Given the description of an element on the screen output the (x, y) to click on. 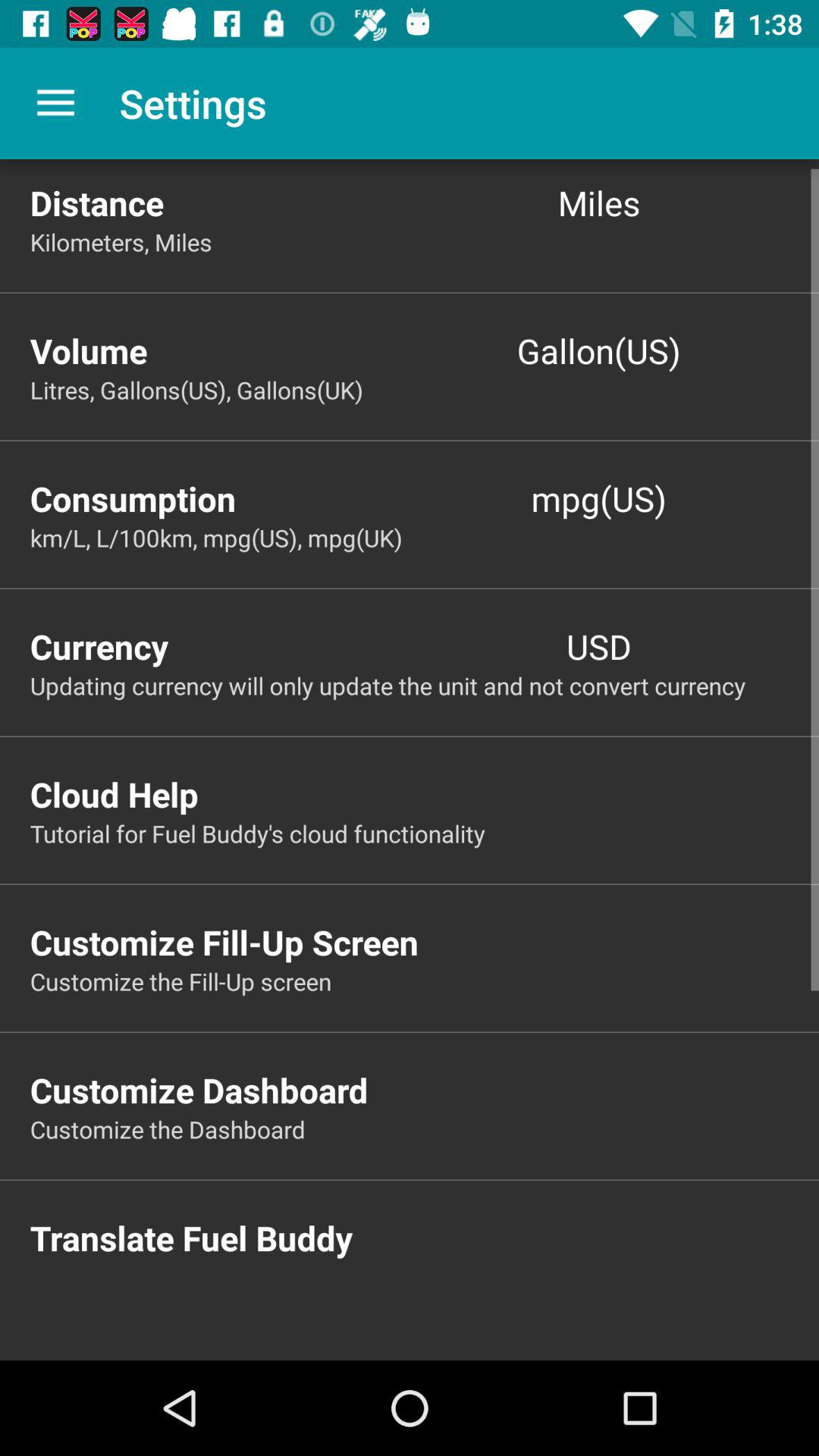
jump to usd item (598, 646)
